Given the description of an element on the screen output the (x, y) to click on. 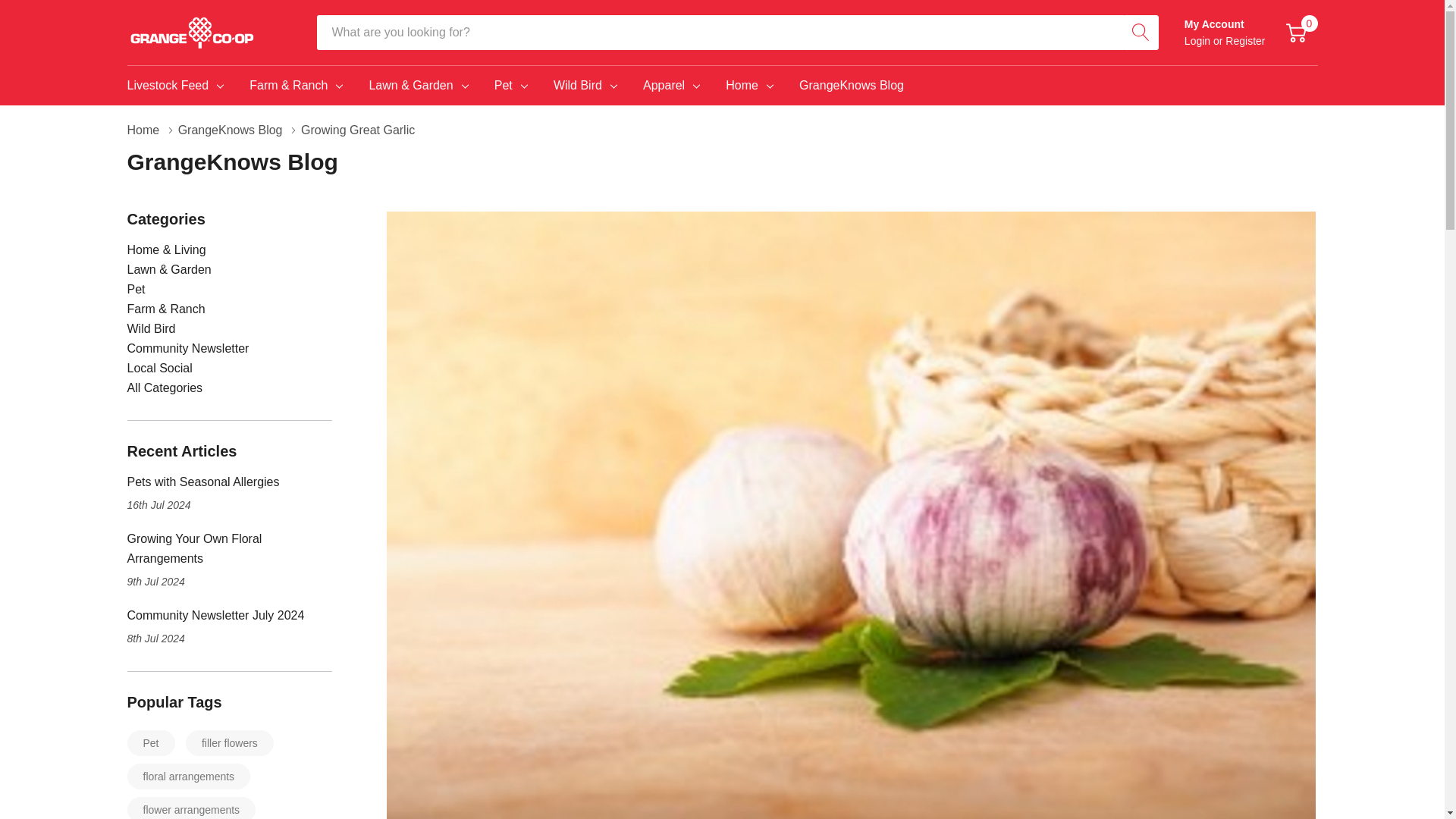
0 (1295, 32)
Login (1198, 40)
Grange Co-op (192, 32)
Livestock Feed (168, 85)
Register (1245, 40)
